Given the description of an element on the screen output the (x, y) to click on. 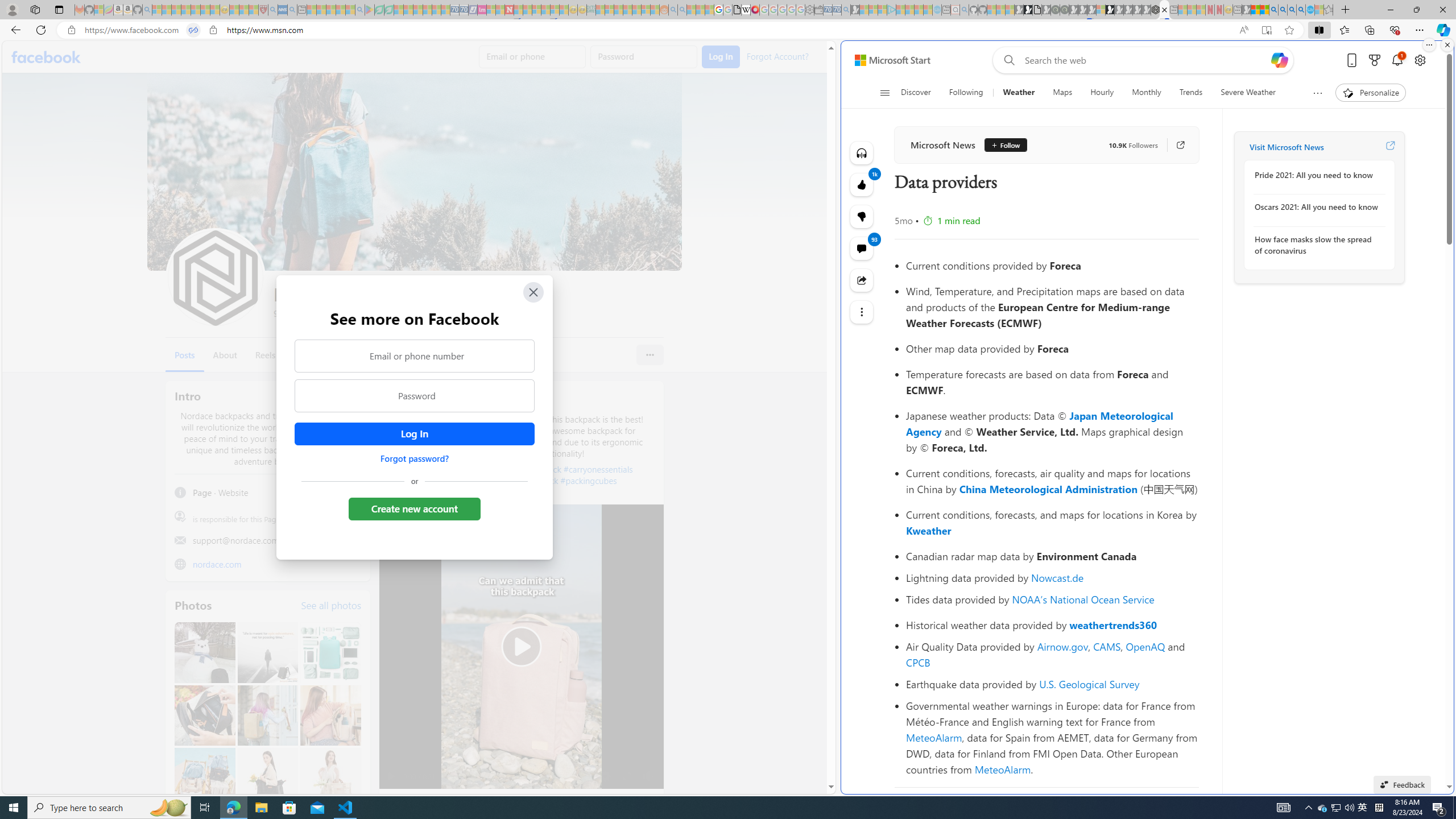
China Meteorological Administration (1048, 489)
Create new account (413, 508)
Historical weather data provided by weathertrends360 (1051, 624)
Latest Politics News & Archive | Newsweek.com - Sleeping (508, 9)
Open navigation menu (884, 92)
MSNBC - MSN - Sleeping (600, 9)
Read aloud this page (Ctrl+Shift+U) (1243, 29)
Expert Portfolios - Sleeping (627, 9)
Lightning data provided by Nowcast.de (1051, 577)
Jobs - lastminute.com Investor Portal - Sleeping (482, 9)
list of asthma inhalers uk - Search - Sleeping (272, 9)
